Given the description of an element on the screen output the (x, y) to click on. 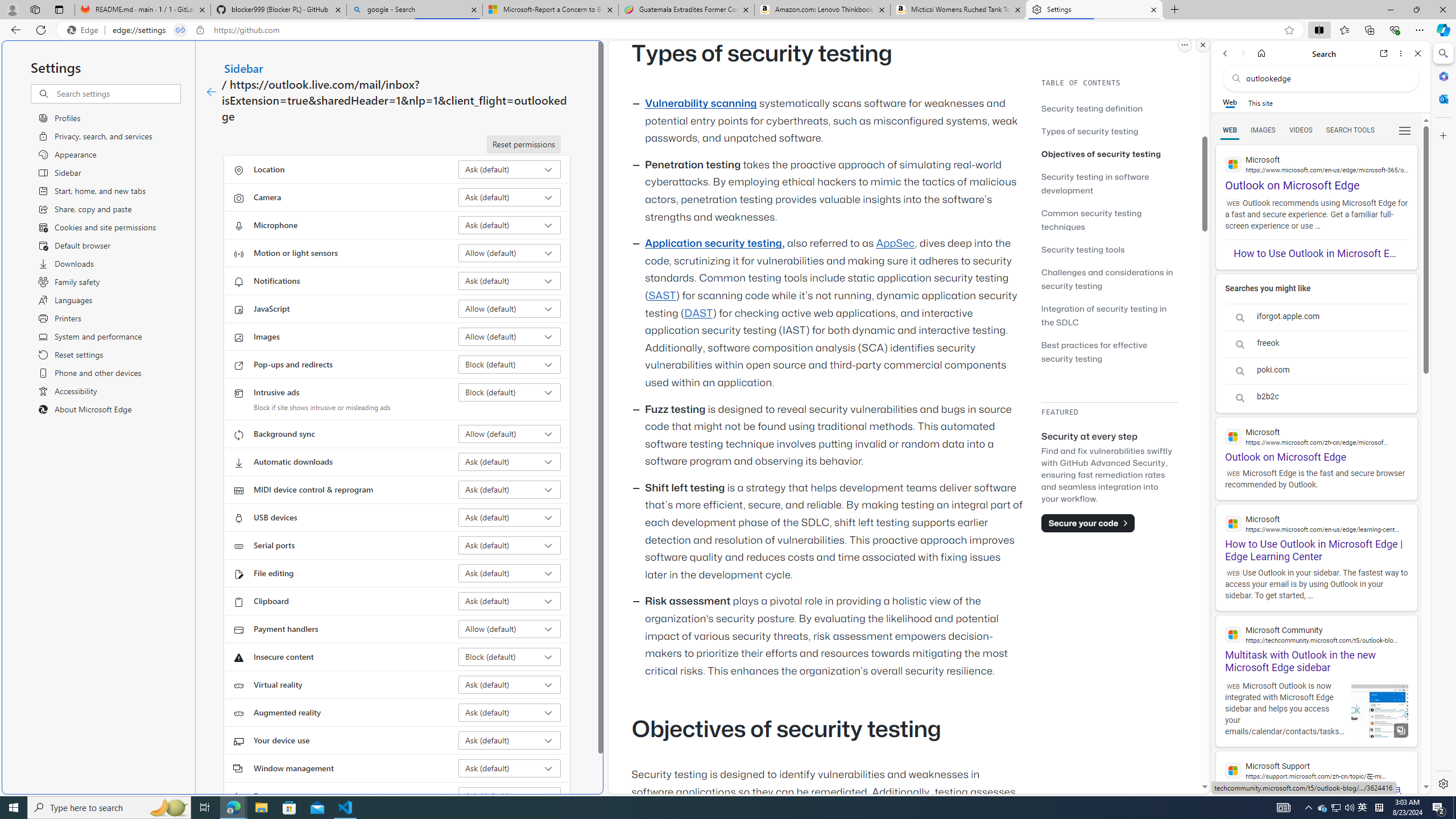
b2b2c (1315, 397)
Challenges and considerations in security testing (1107, 278)
Automatic downloads Ask (default) (509, 461)
Payment handlers Allow (default) (509, 628)
Motion or light sensors Allow (default) (509, 253)
Microsoft Support (1315, 770)
